Given the description of an element on the screen output the (x, y) to click on. 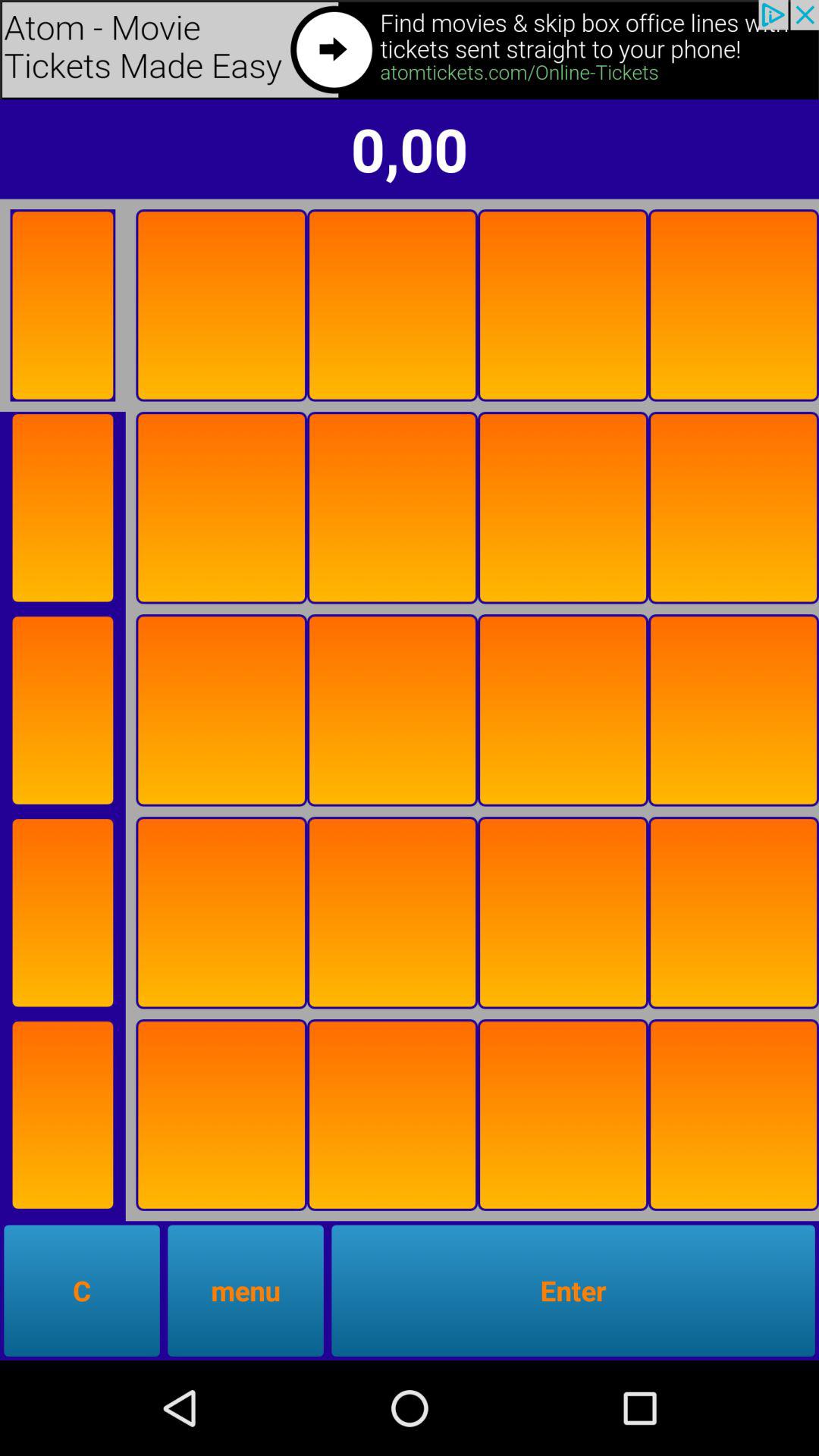
painting (733, 305)
